Given the description of an element on the screen output the (x, y) to click on. 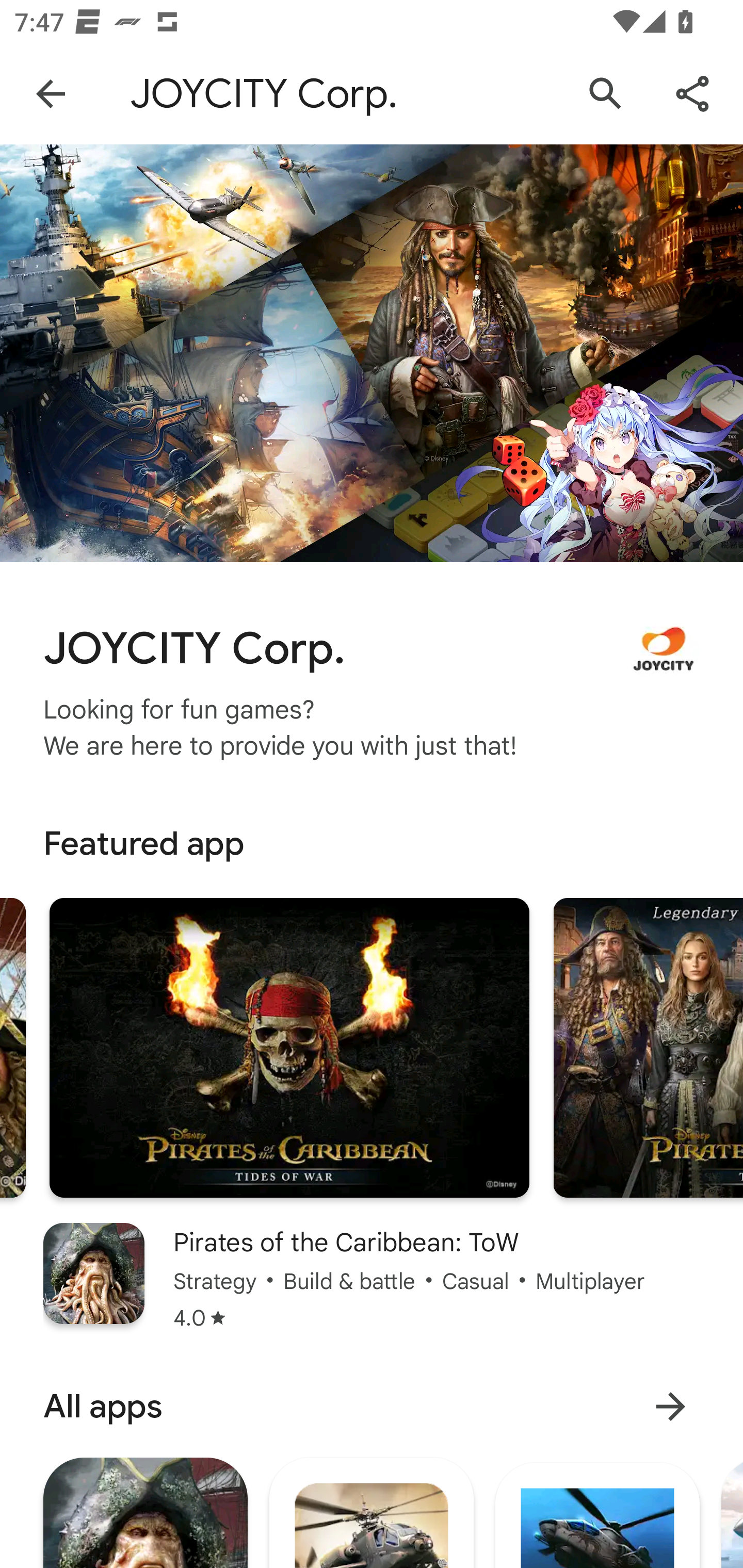
Navigate up (50, 93)
Search Google Play (605, 93)
Share (692, 93)
Screenshot "1" of "7" (289, 1047)
All apps More results for All apps (371, 1406)
More results for All apps (670, 1406)
